Given the description of an element on the screen output the (x, y) to click on. 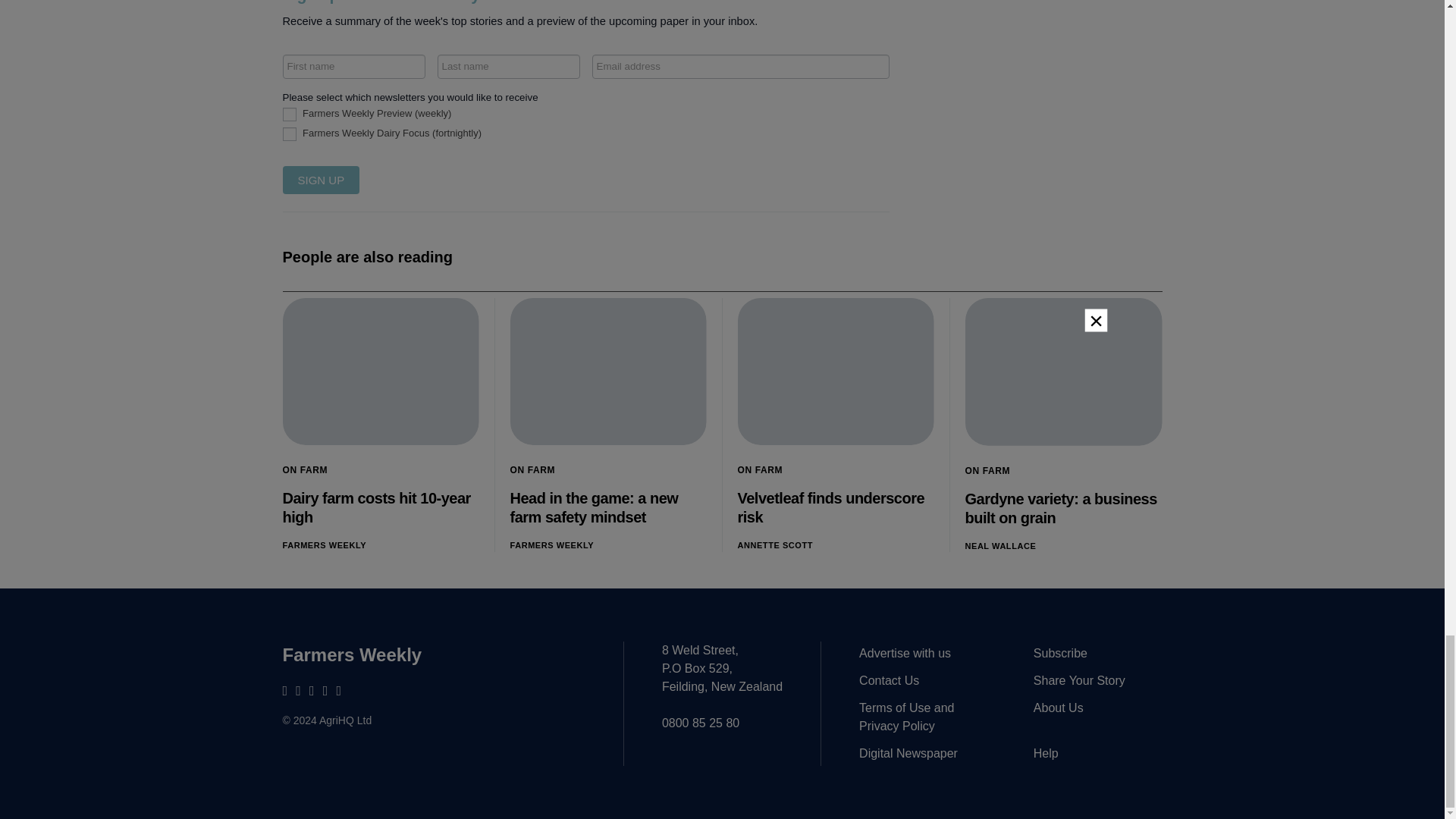
View all posts by Farmers Weekly (551, 545)
View all posts by Annette Scott (774, 545)
View all posts by Farmers Weekly (324, 545)
